Given the description of an element on the screen output the (x, y) to click on. 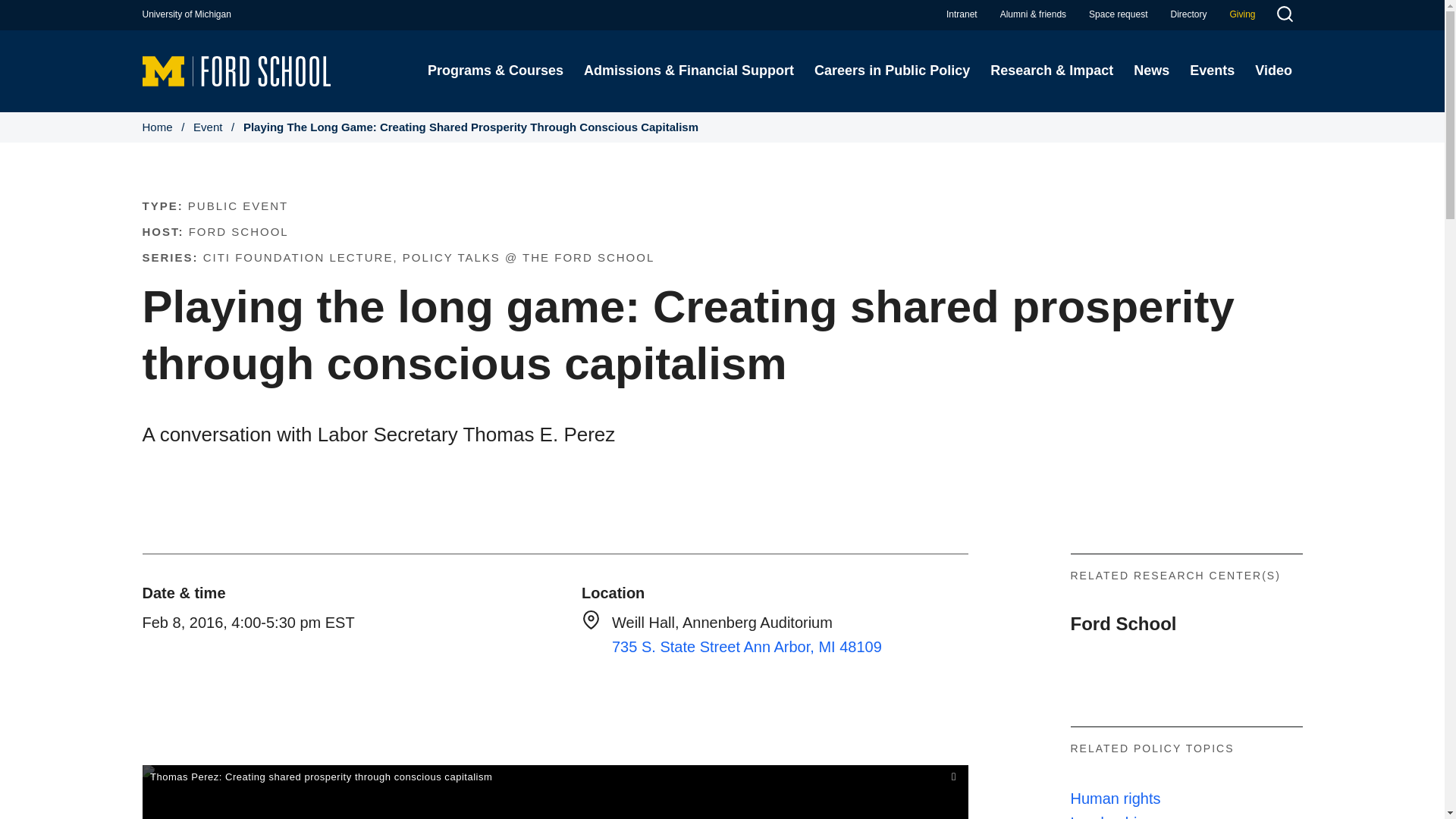
Ford School faculty, staff, and student contacts (1188, 14)
University of Michigan (186, 14)
A connected community to each other, and to the world (1032, 14)
Giving (1241, 14)
Space request (1118, 14)
Directory (1188, 14)
Search Toggle (1283, 15)
Learn more about our facilities and how to reserve them (1118, 14)
Give to the Ford School (1241, 14)
